Given the description of an element on the screen output the (x, y) to click on. 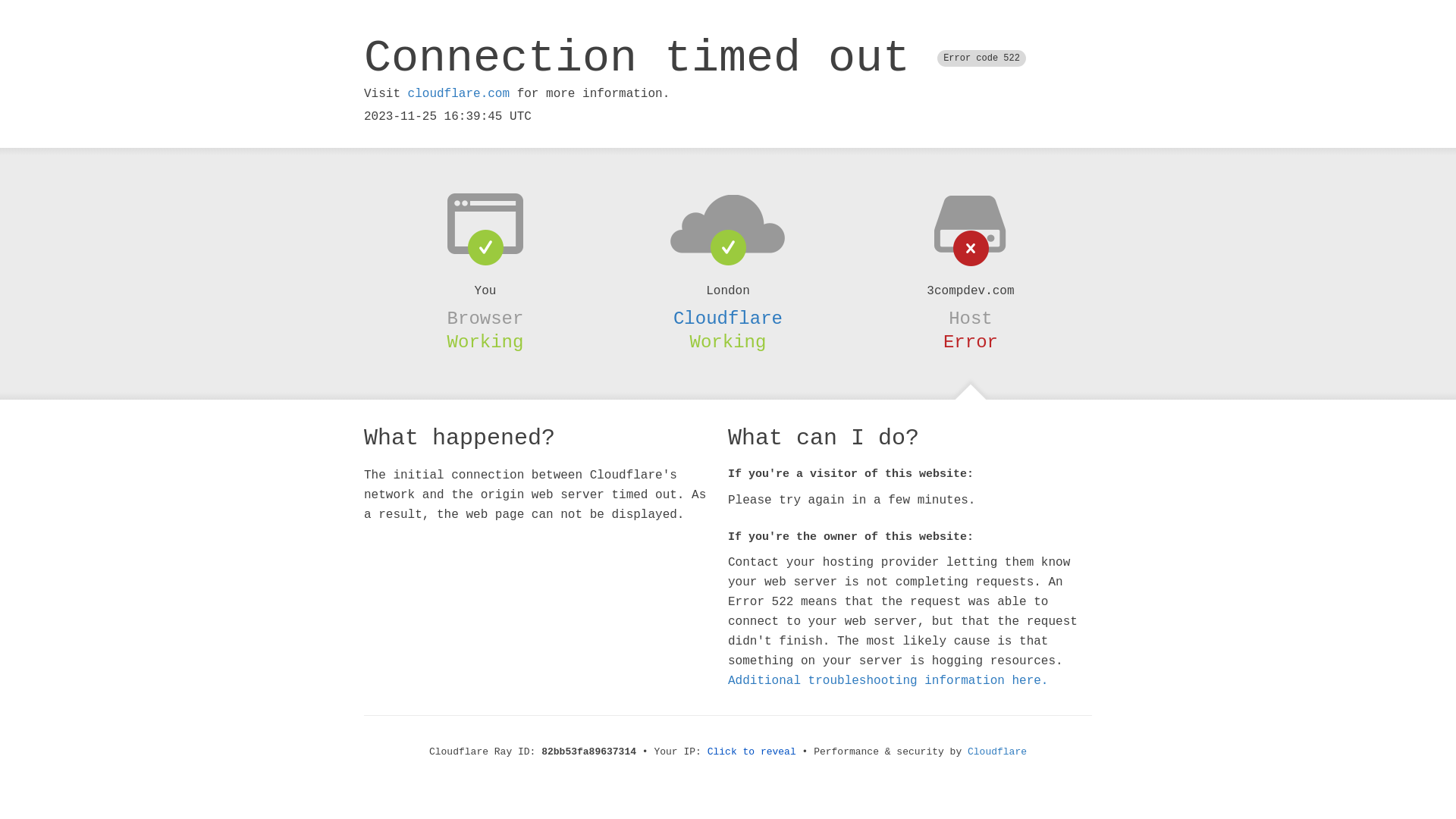
Cloudflare Element type: text (727, 318)
Cloudflare Element type: text (996, 751)
Additional troubleshooting information here. Element type: text (888, 680)
cloudflare.com Element type: text (458, 93)
Click to reveal Element type: text (751, 751)
